Given the description of an element on the screen output the (x, y) to click on. 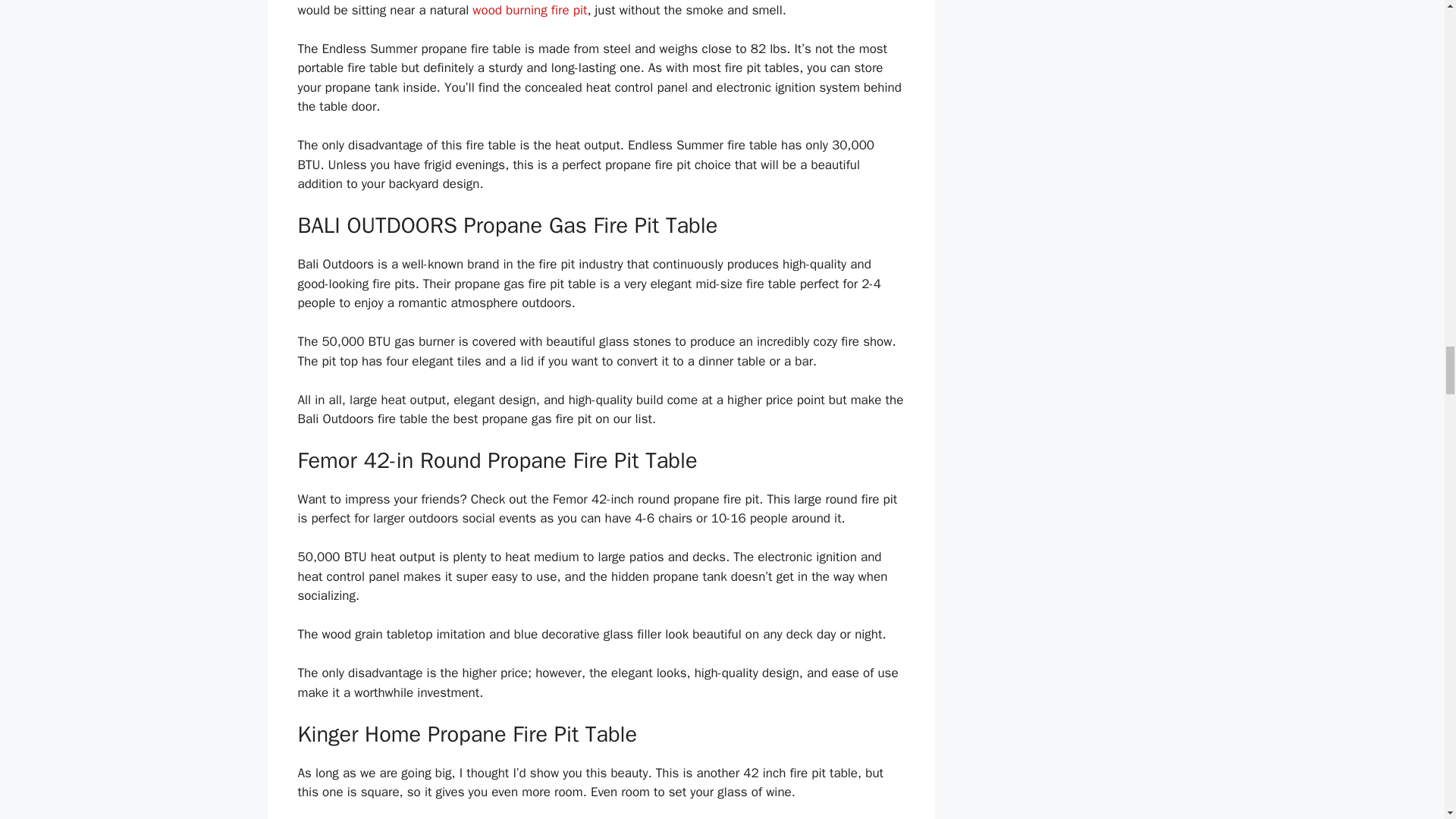
wood burning fire pit (528, 10)
